Given the description of an element on the screen output the (x, y) to click on. 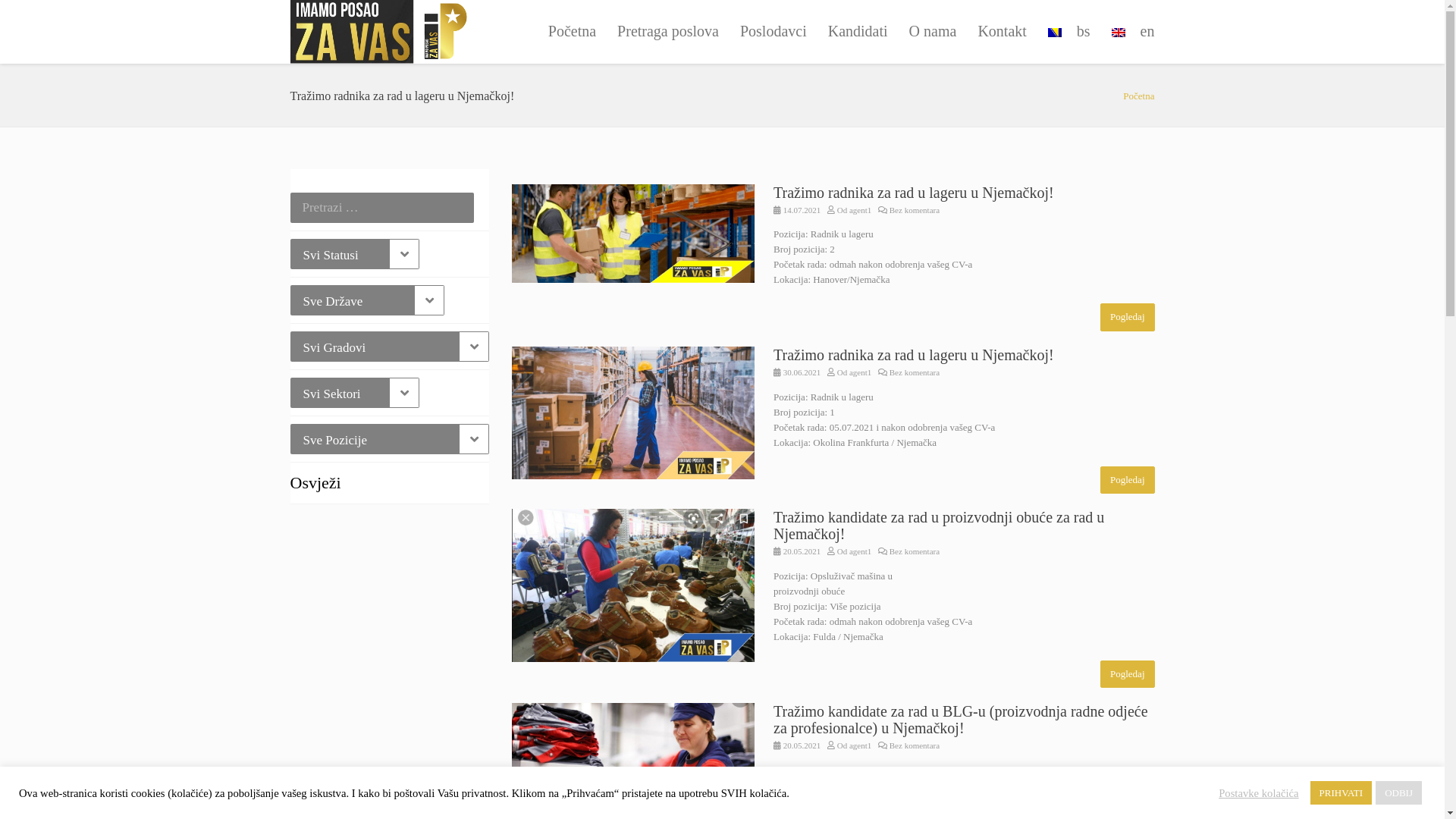
agent1 Element type: text (860, 744)
Pogledaj Element type: text (1127, 480)
Poslodavci Element type: text (773, 31)
Pretraga poslova Element type: text (667, 31)
PRIHVATI Element type: text (1341, 792)
en Element type: text (1127, 31)
O nama Element type: text (932, 31)
Kandidati Element type: text (857, 31)
Pogledaj Element type: text (1127, 317)
Kontakt Element type: text (1001, 31)
agent1 Element type: text (860, 550)
agent1 Element type: text (860, 371)
bs Element type: text (1069, 31)
agent1 Element type: text (860, 209)
ODBIJ Element type: text (1398, 792)
Pogledaj Element type: text (1127, 674)
